Given the description of an element on the screen output the (x, y) to click on. 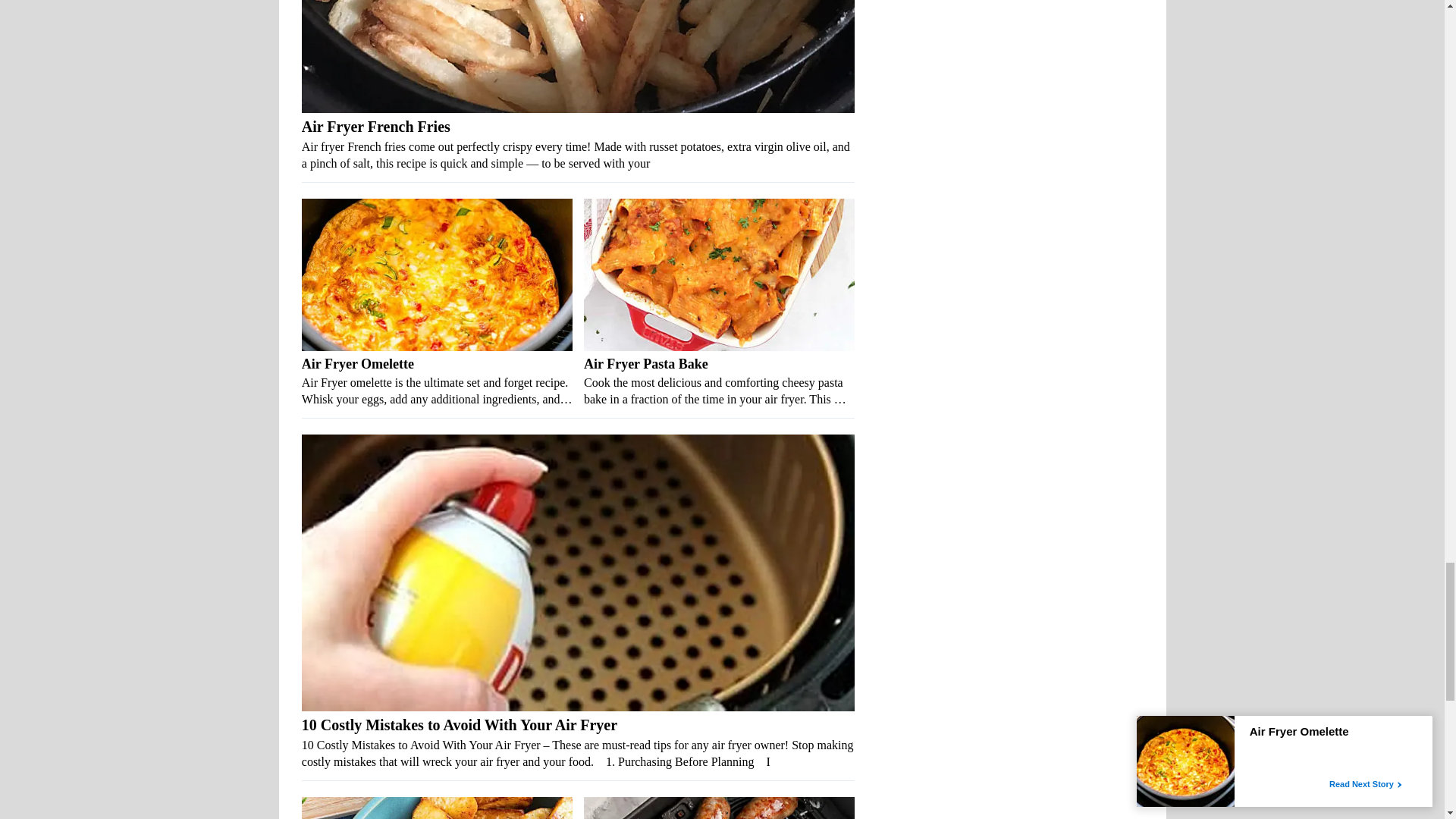
Air Fryer French Fries (578, 144)
